Given the description of an element on the screen output the (x, y) to click on. 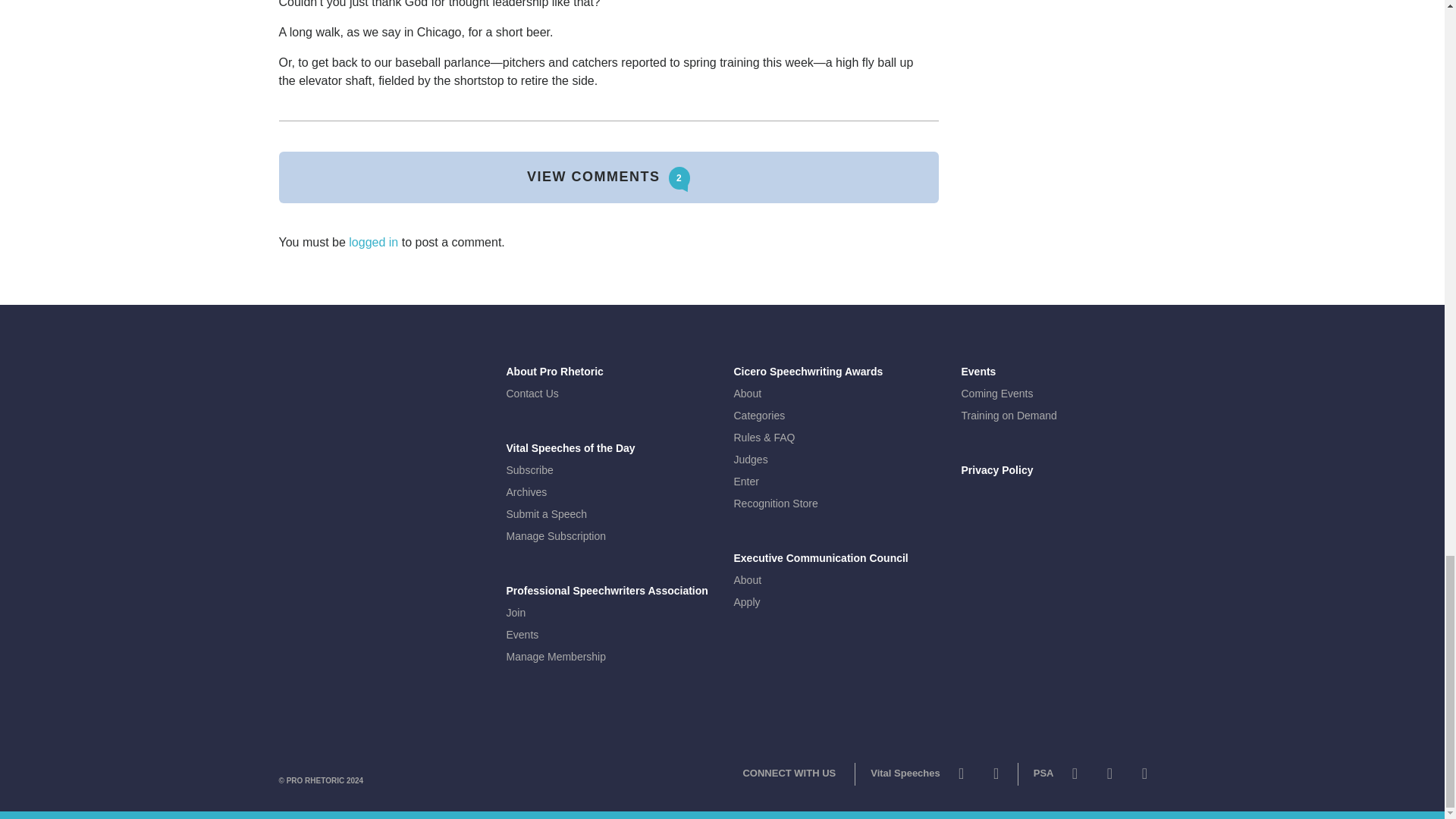
YouTube (1109, 776)
LinkedIn (1144, 776)
Twitter (961, 776)
Twitter (1074, 776)
Facebook (996, 776)
